Given the description of an element on the screen output the (x, y) to click on. 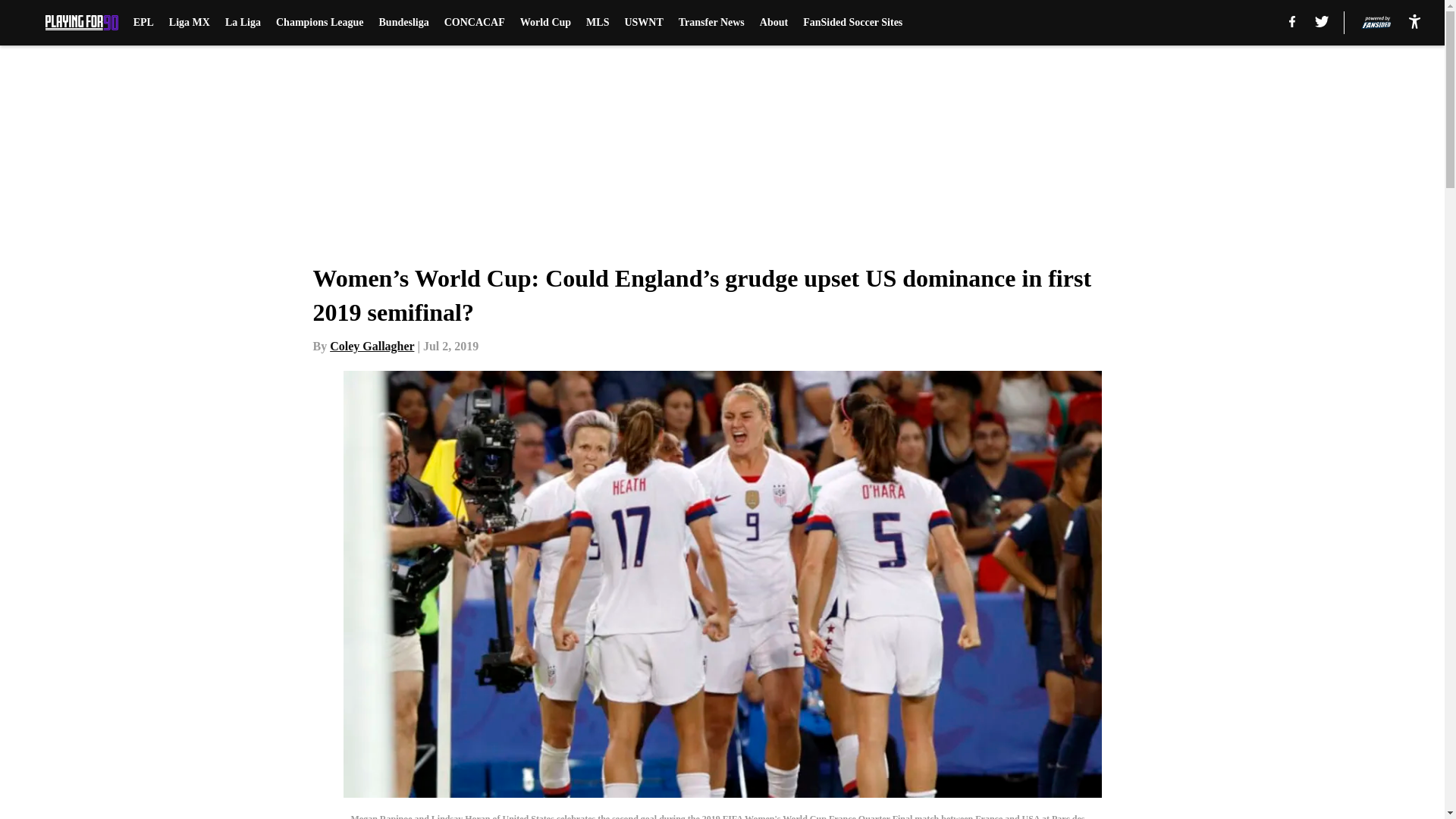
La Liga (242, 22)
USWNT (643, 22)
About (773, 22)
EPL (143, 22)
World Cup (544, 22)
MLS (597, 22)
Liga MX (188, 22)
FanSided Soccer Sites (852, 22)
Coley Gallagher (371, 345)
Transfer News (711, 22)
